Given the description of an element on the screen output the (x, y) to click on. 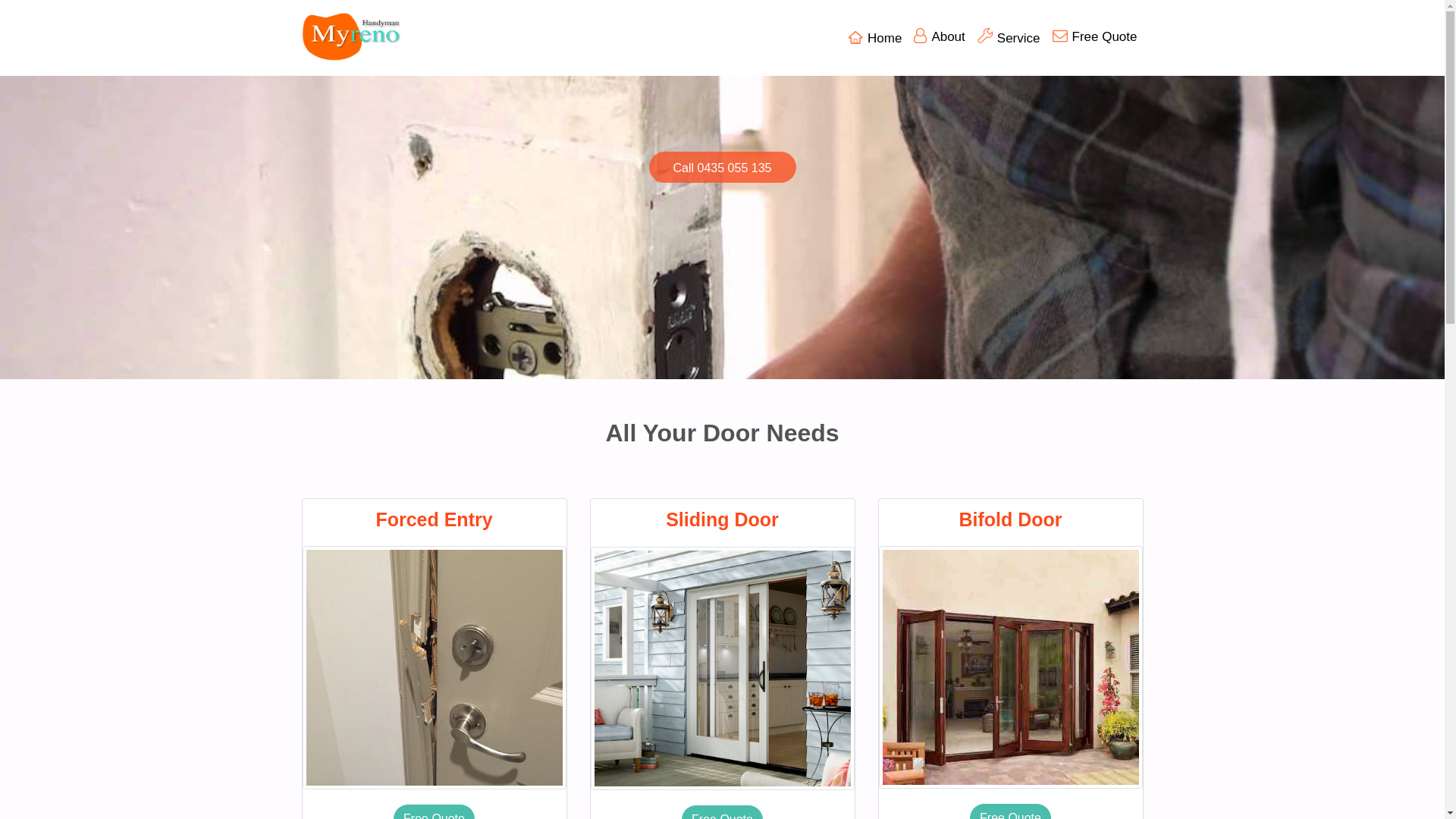
Call 0435 055 135 Element type: text (722, 166)
About Element type: text (938, 36)
Service Element type: text (1008, 37)
Free Quote Element type: text (1094, 36)
Home Element type: text (874, 37)
